Given the description of an element on the screen output the (x, y) to click on. 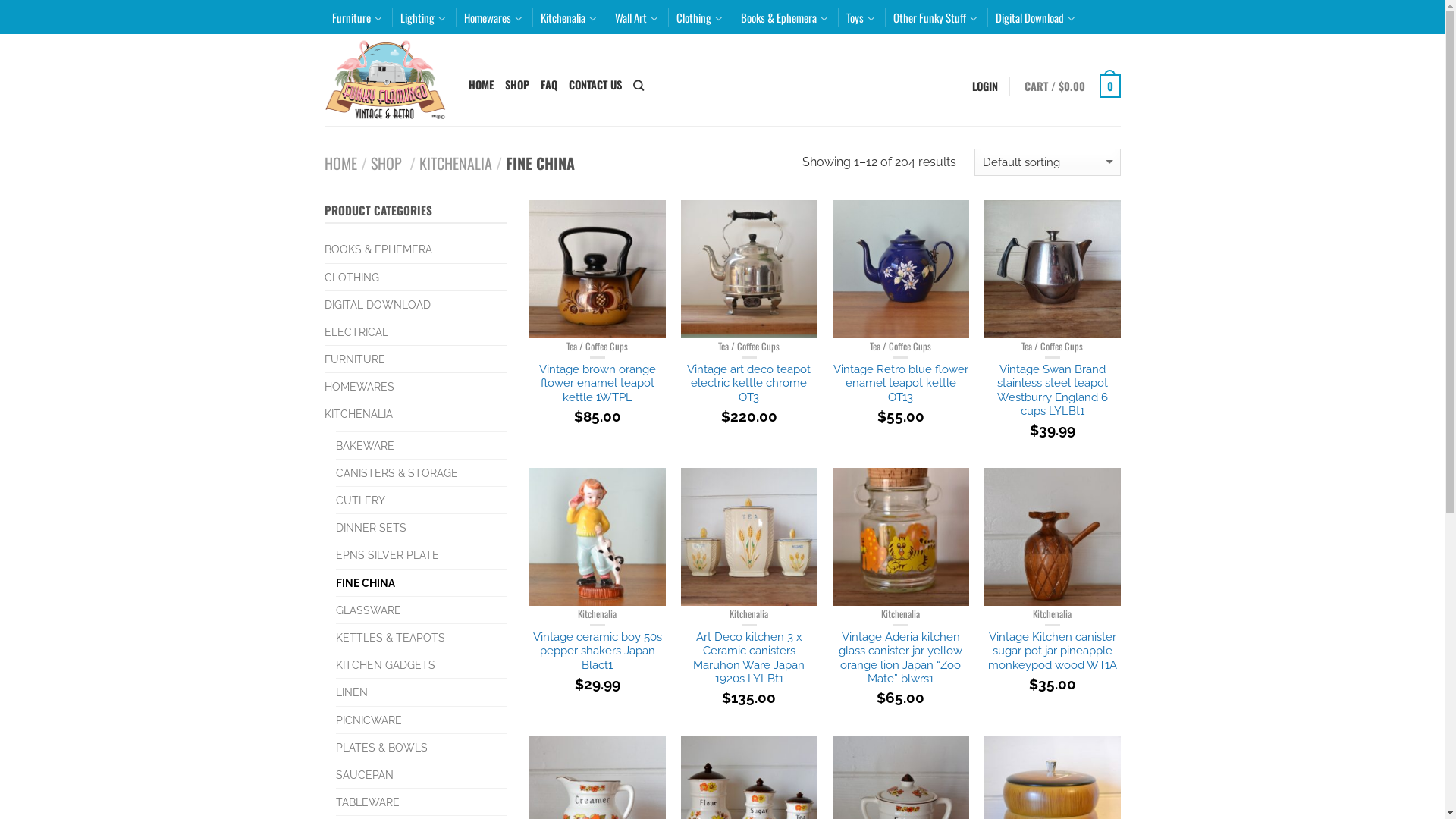
Wall Art Element type: text (635, 16)
Homewares Element type: text (493, 16)
Vintage art deco teapot electric kettle chrome OT3 Element type: text (748, 393)
KITCHEN GADGETS Element type: text (390, 664)
Other Funky Stuff Element type: text (935, 16)
CONTACT US Element type: text (594, 84)
CUTLERY Element type: text (365, 499)
Furniture Element type: text (357, 16)
PICNICWARE Element type: text (373, 719)
PLATES & BOWLS Element type: text (386, 747)
TABLEWARE Element type: text (372, 801)
CANISTERS & STORAGE Element type: text (401, 472)
Digital Download Element type: text (1034, 16)
FINE CHINA Element type: text (370, 582)
CART / $0.00 0 Element type: text (1071, 85)
GLASSWARE Element type: text (373, 609)
SHOP Element type: text (385, 162)
Kitchenalia Element type: text (596, 613)
Vintage ceramic boy 50s pepper shakers Japan Blact1 Element type: text (597, 661)
Kitchenalia Element type: text (567, 16)
LOGIN Element type: text (984, 85)
BAKEWARE Element type: text (369, 445)
Kitchenalia Element type: text (748, 613)
ELECTRICAL Element type: text (361, 331)
EPNS SILVER PLATE Element type: text (392, 554)
KITCHENALIA Element type: text (454, 162)
FAQ Element type: text (547, 84)
Vintage brown orange flower enamel teapot kettle 1WTPL Element type: text (597, 393)
Clothing Element type: text (699, 16)
HOME Element type: text (480, 84)
HOME Element type: text (340, 162)
SHOP Element type: text (517, 84)
Tea / Coffee Cups Element type: text (900, 345)
Lighting Element type: text (422, 16)
Books & Ephemera Element type: text (783, 16)
KITCHENALIA Element type: text (364, 413)
BOOKS & EPHEMERA Element type: text (383, 248)
KETTLES & TEAPOTS Element type: text (395, 637)
DINNER SETS Element type: text (376, 527)
CLOTHING Element type: text (357, 276)
HOMEWARES Element type: text (364, 386)
Vintage Retro blue flower enamel teapot kettle OT13 Element type: text (900, 393)
FURNITURE Element type: text (360, 358)
Tea / Coffee Cups Element type: text (748, 345)
LINEN Element type: text (356, 691)
DIGITAL DOWNLOAD Element type: text (383, 304)
Kitchenalia Element type: text (900, 613)
SAUCEPAN Element type: text (369, 774)
Toys Element type: text (860, 16)
Tea / Coffee Cups Element type: text (1051, 345)
Tea / Coffee Cups Element type: text (596, 345)
Kitchenalia Element type: text (1051, 613)
